Given the description of an element on the screen output the (x, y) to click on. 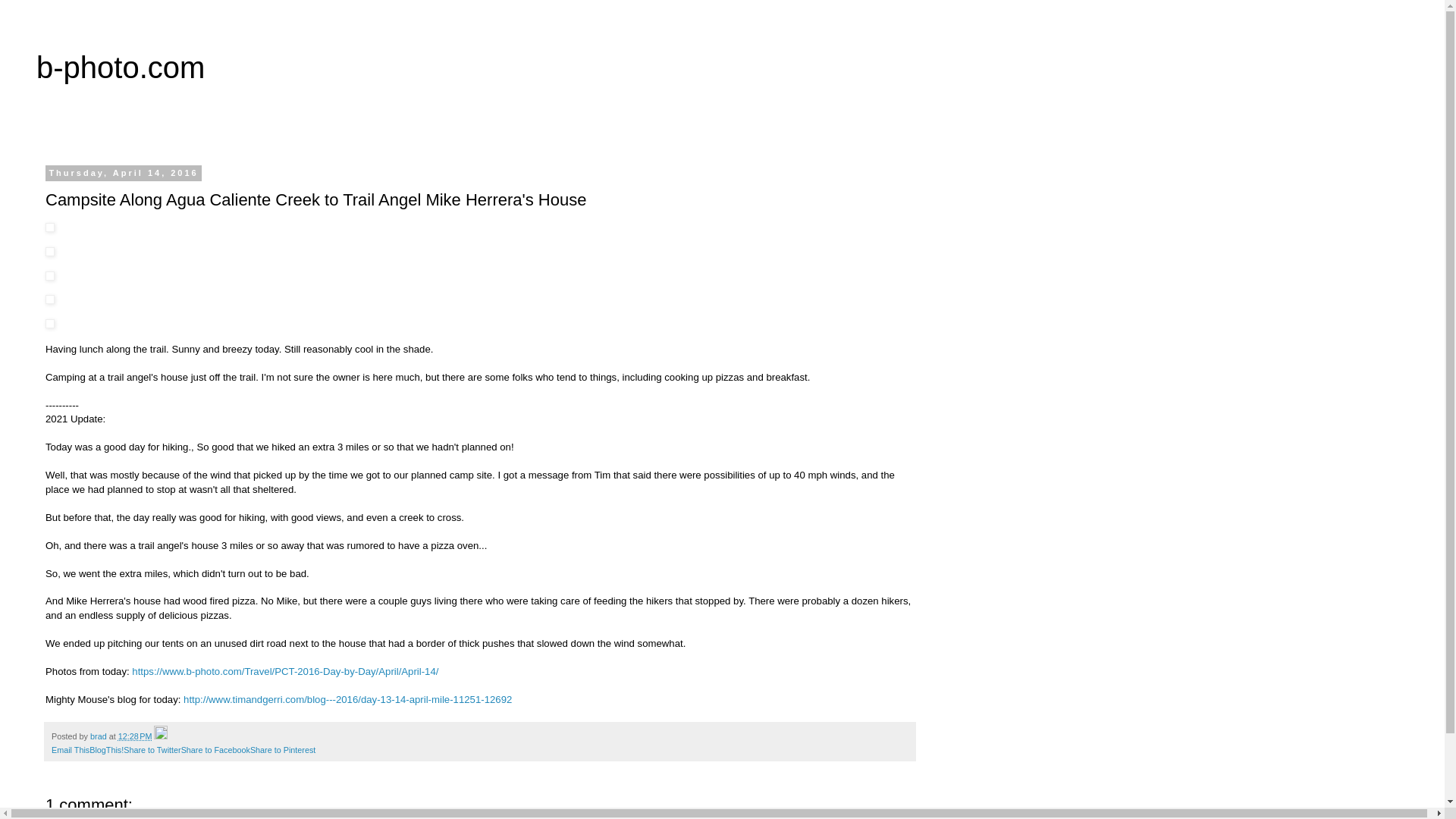
author profile (99, 736)
Share to Pinterest (282, 749)
Email This (69, 749)
Share to Twitter (151, 749)
Share to Facebook (215, 749)
permanent link (134, 736)
Share to Pinterest (282, 749)
b-photo.com (120, 67)
BlogThis! (105, 749)
brad (99, 736)
